Given the description of an element on the screen output the (x, y) to click on. 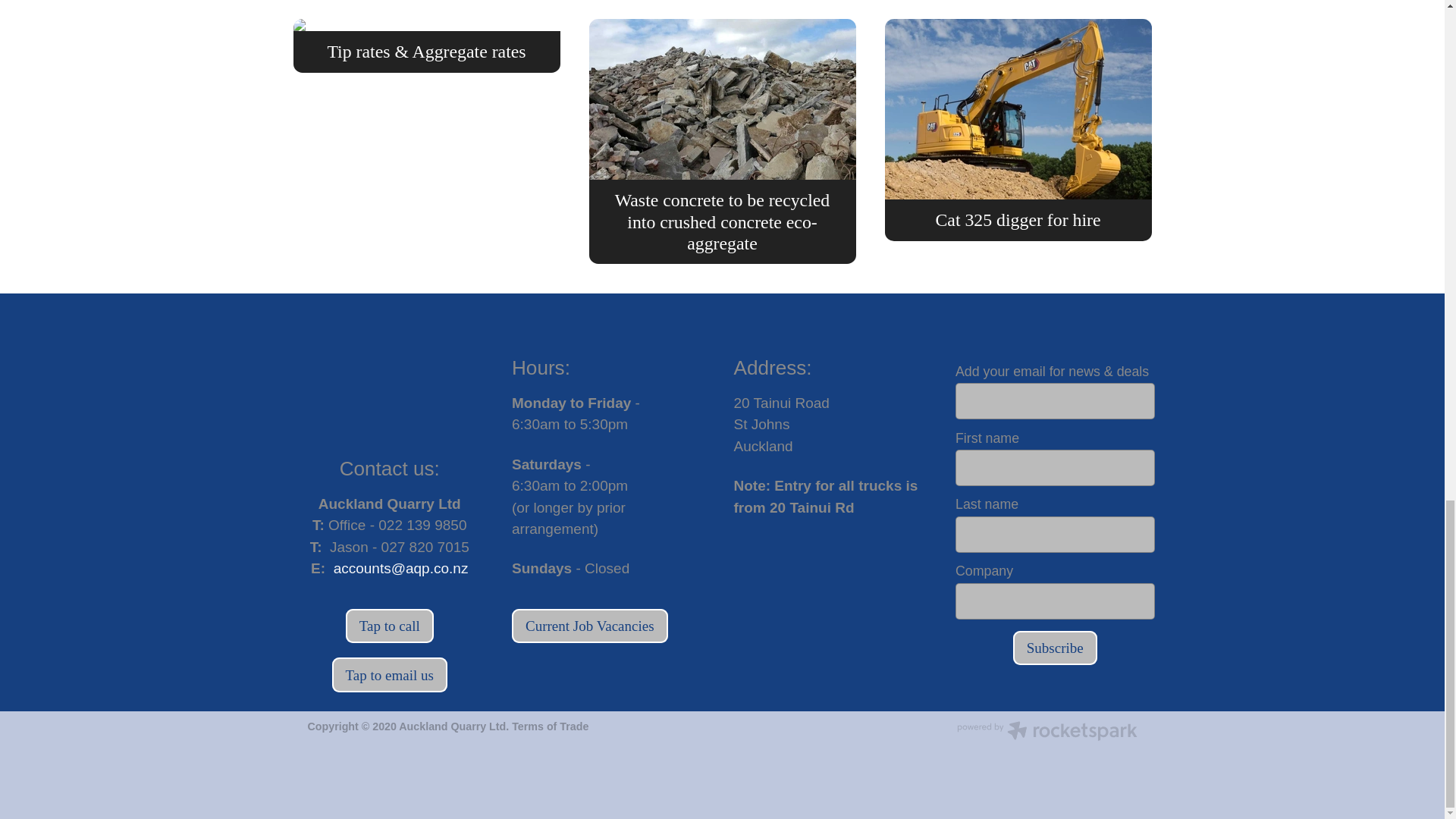
Terms of Trade (550, 726)
Tap to email us (388, 674)
Subscribe (1055, 647)
Tap to call (389, 626)
Current Job Vacancies (590, 626)
Rocketspark website builder (1046, 732)
